Given the description of an element on the screen output the (x, y) to click on. 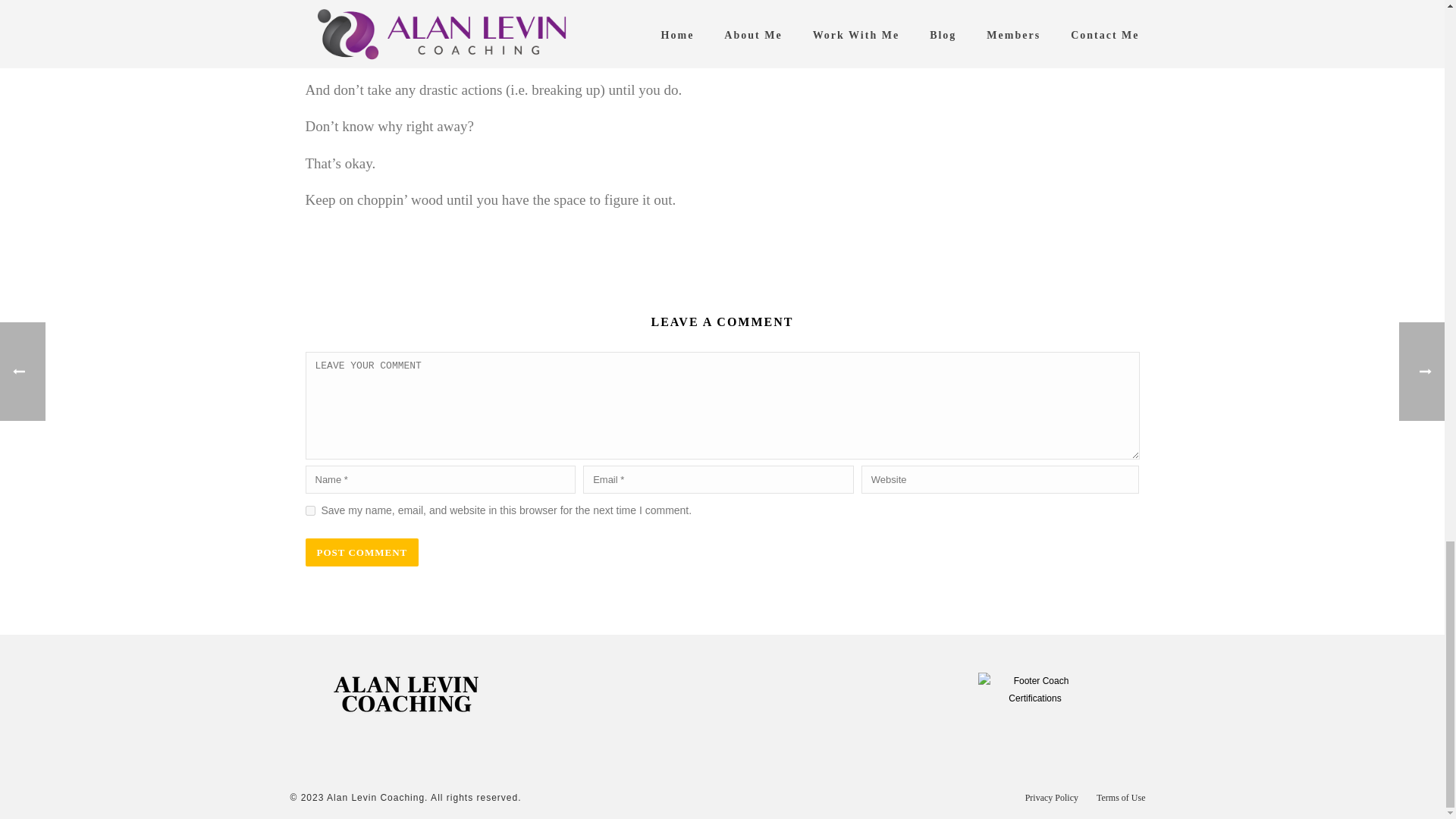
POST COMMENT (361, 552)
POST COMMENT (361, 552)
Privacy Policy (1051, 797)
yes (309, 510)
Terms of Use (1120, 797)
